Given the description of an element on the screen output the (x, y) to click on. 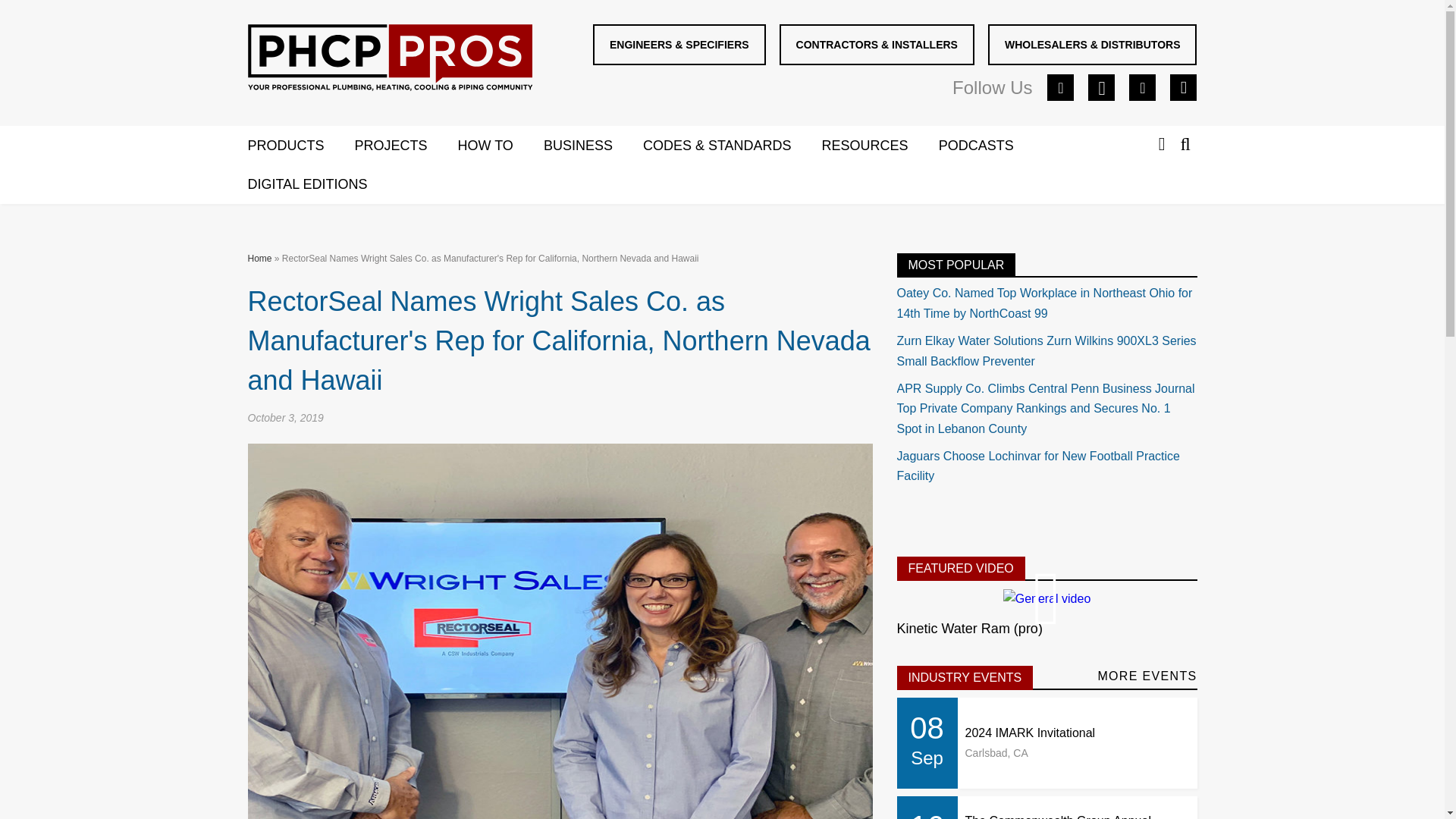
BUSINESS (593, 146)
PRODUCTS (300, 146)
logo (389, 60)
logo (389, 57)
PROJECTS (406, 146)
HOW TO (500, 146)
